Given the description of an element on the screen output the (x, y) to click on. 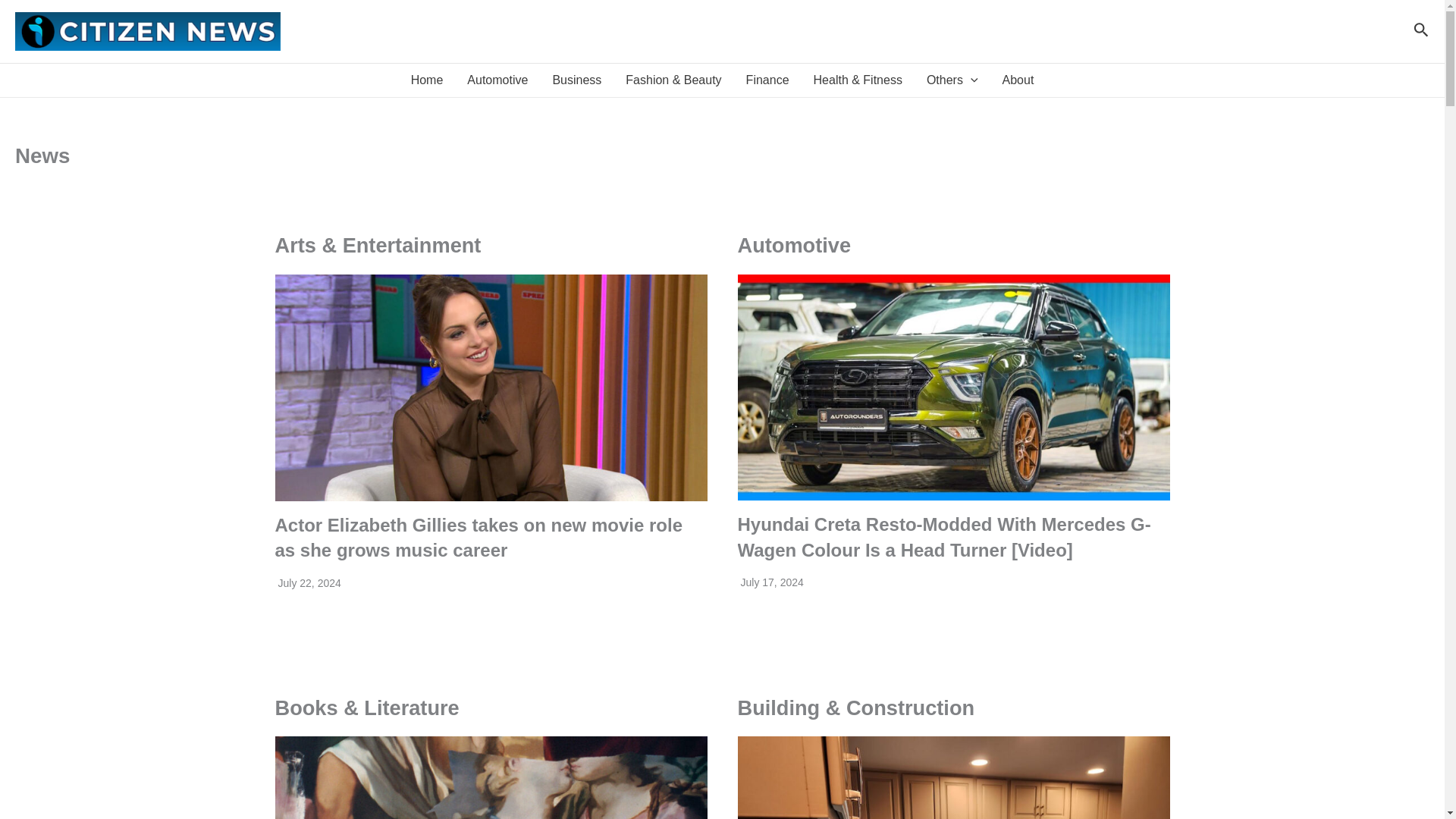
Automotive (497, 80)
Others (952, 80)
Home (426, 80)
Finance (767, 80)
Business (576, 80)
About (1018, 80)
